Given the description of an element on the screen output the (x, y) to click on. 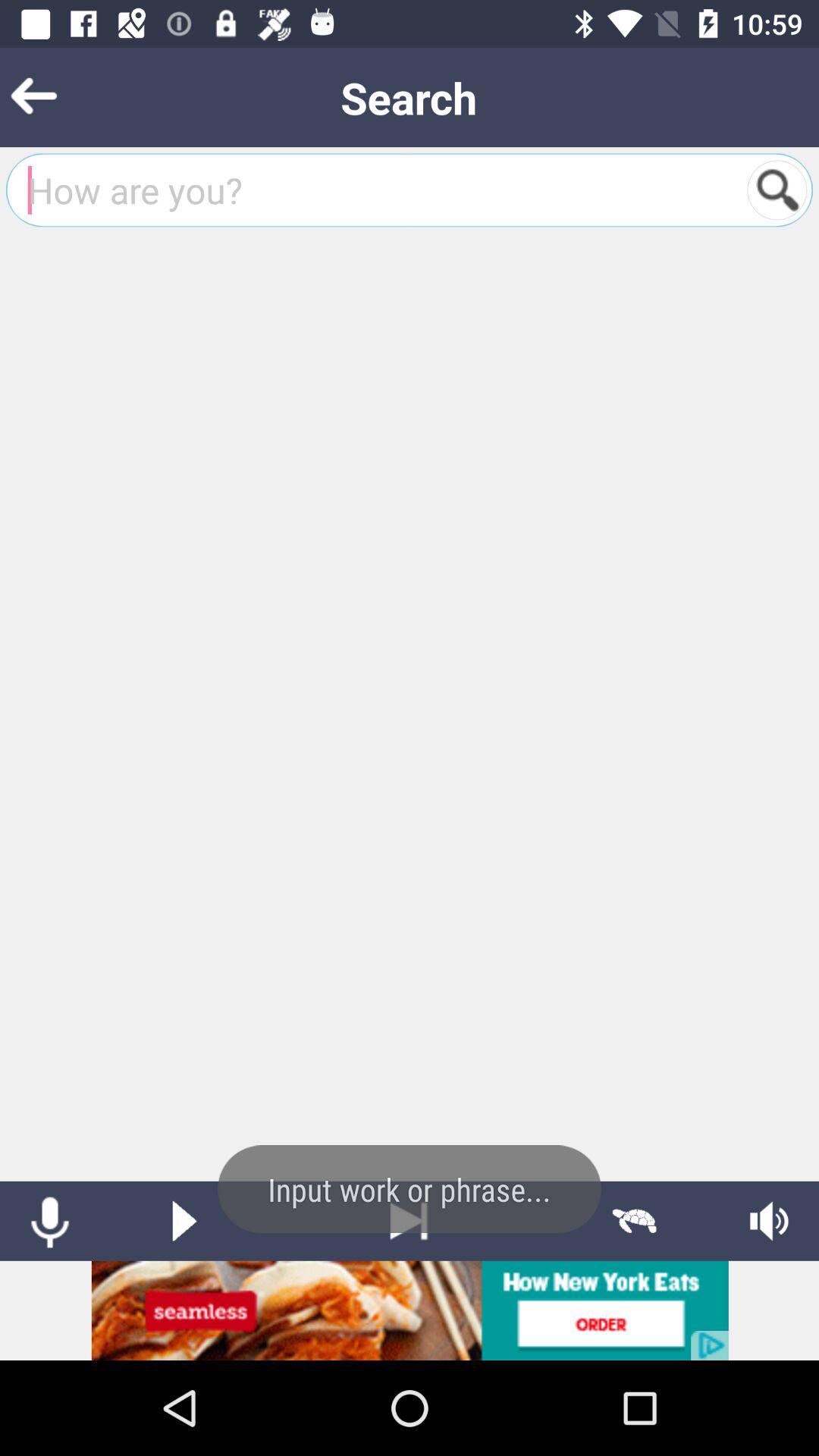
toggle a search bar (777, 190)
